Given the description of an element on the screen output the (x, y) to click on. 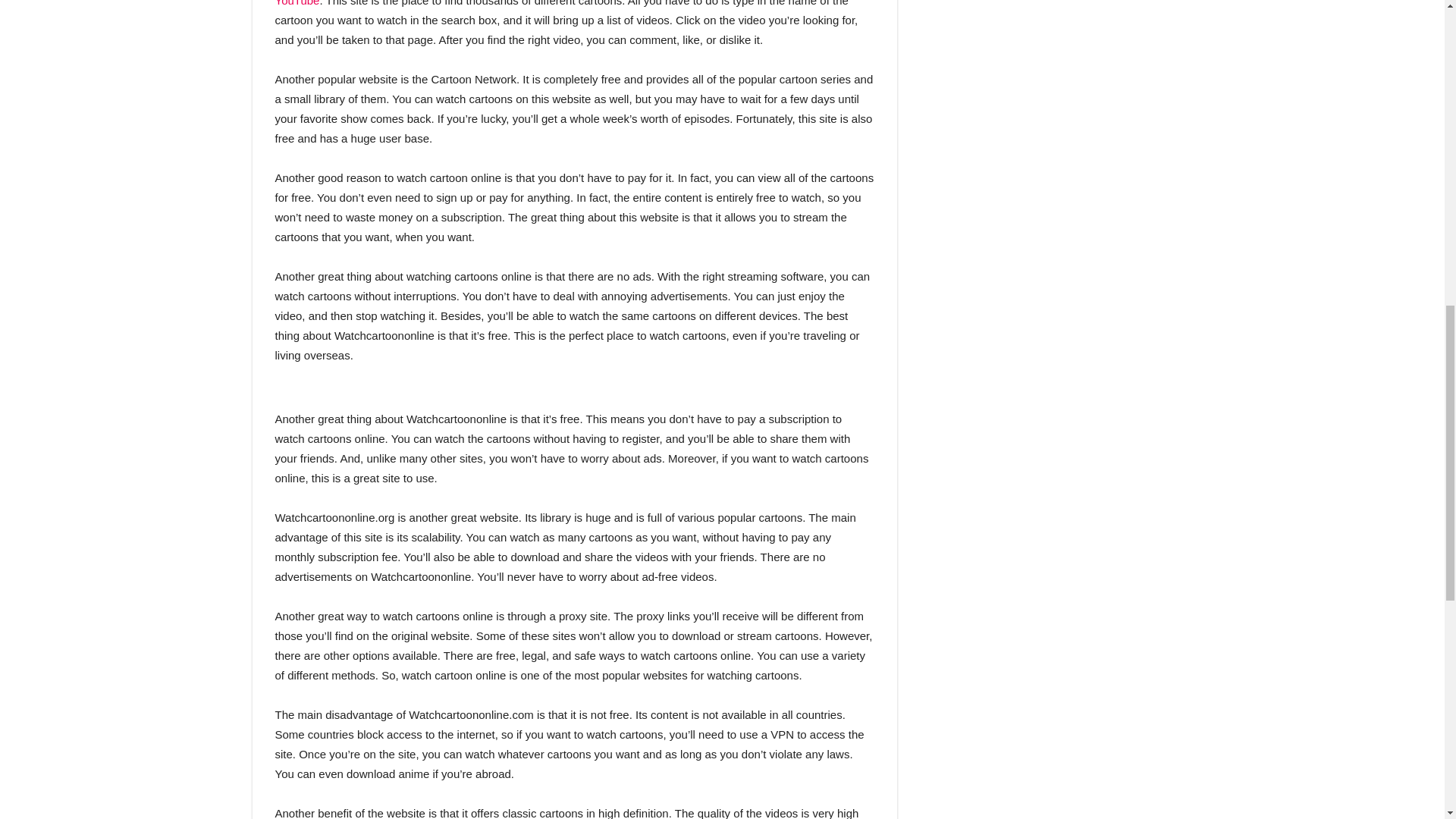
YouTube (296, 3)
